Given the description of an element on the screen output the (x, y) to click on. 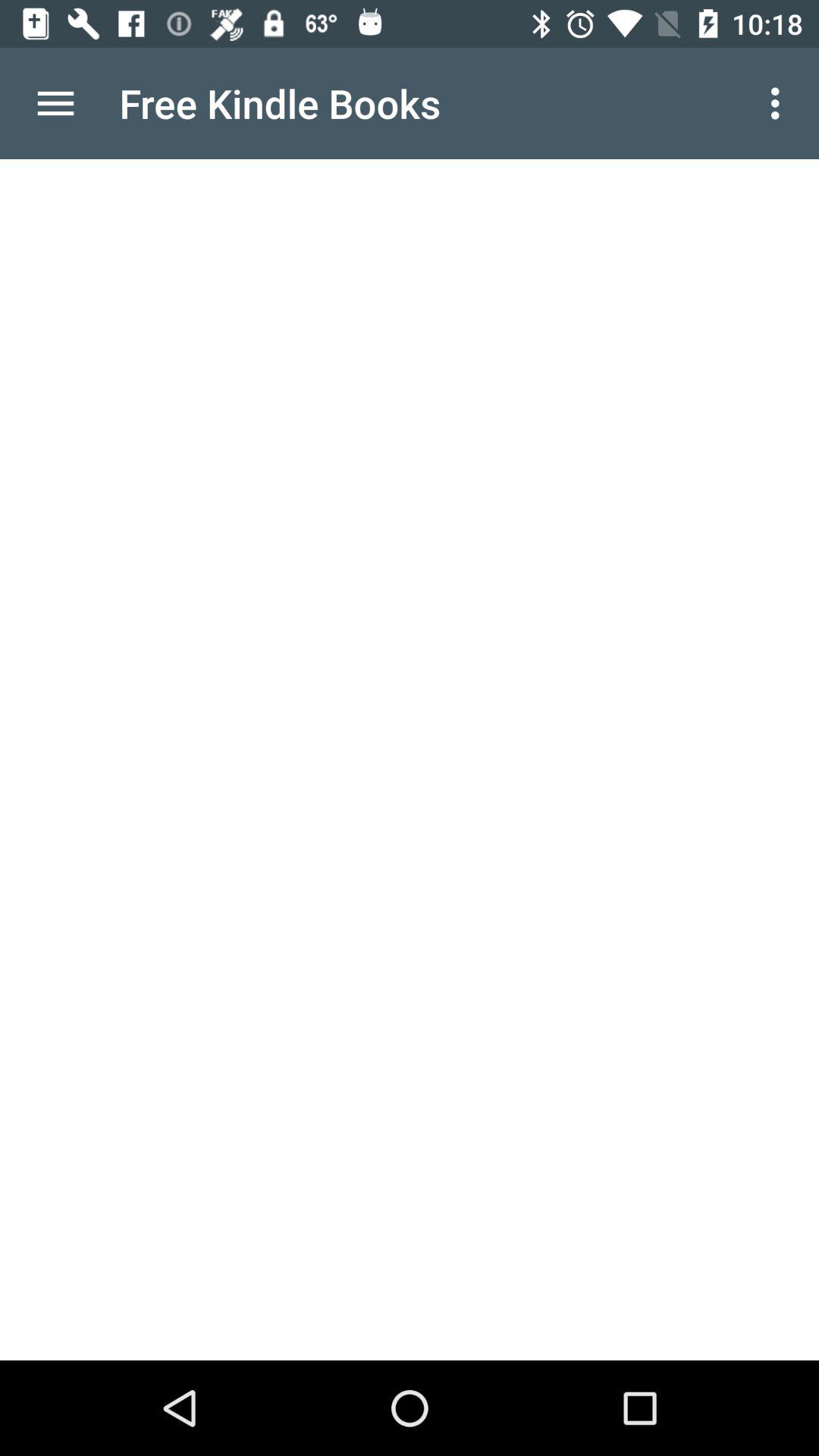
click app next to the free kindle books item (779, 103)
